Given the description of an element on the screen output the (x, y) to click on. 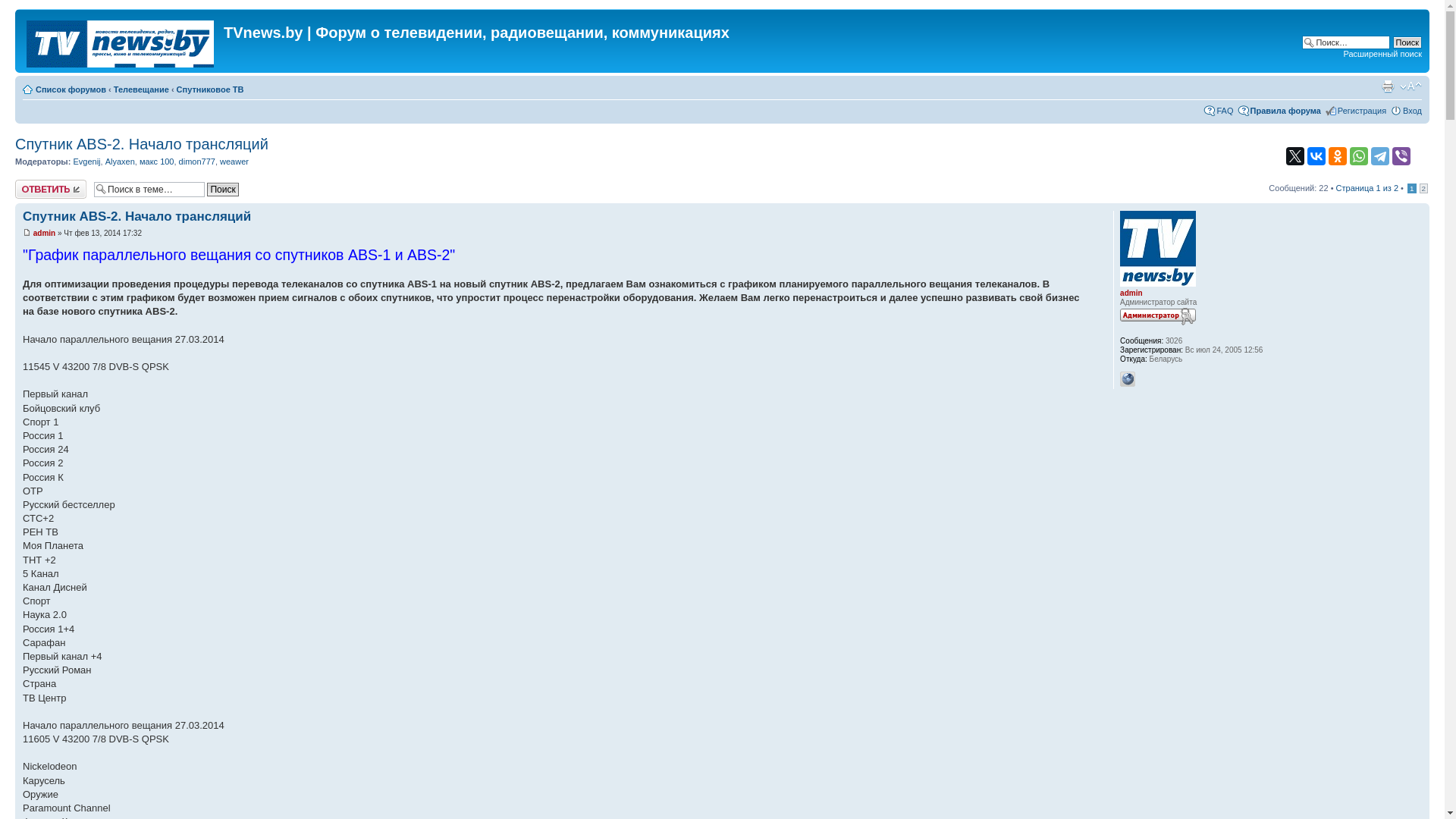
Alyaxen Element type: text (119, 161)
Telegram Element type: hover (1380, 156)
2 Element type: text (1423, 188)
Viber Element type: hover (1401, 156)
FAQ Element type: text (1224, 110)
admin Element type: text (1131, 292)
admin Element type: text (44, 233)
Twitter Element type: hover (1295, 156)
WWW: http://tvnews.by/ Element type: hover (1127, 378)
weawer Element type: text (233, 161)
dimon777 Element type: text (196, 161)
WhatsApp Element type: hover (1358, 156)
Evgenij Element type: text (86, 161)
